Given the description of an element on the screen output the (x, y) to click on. 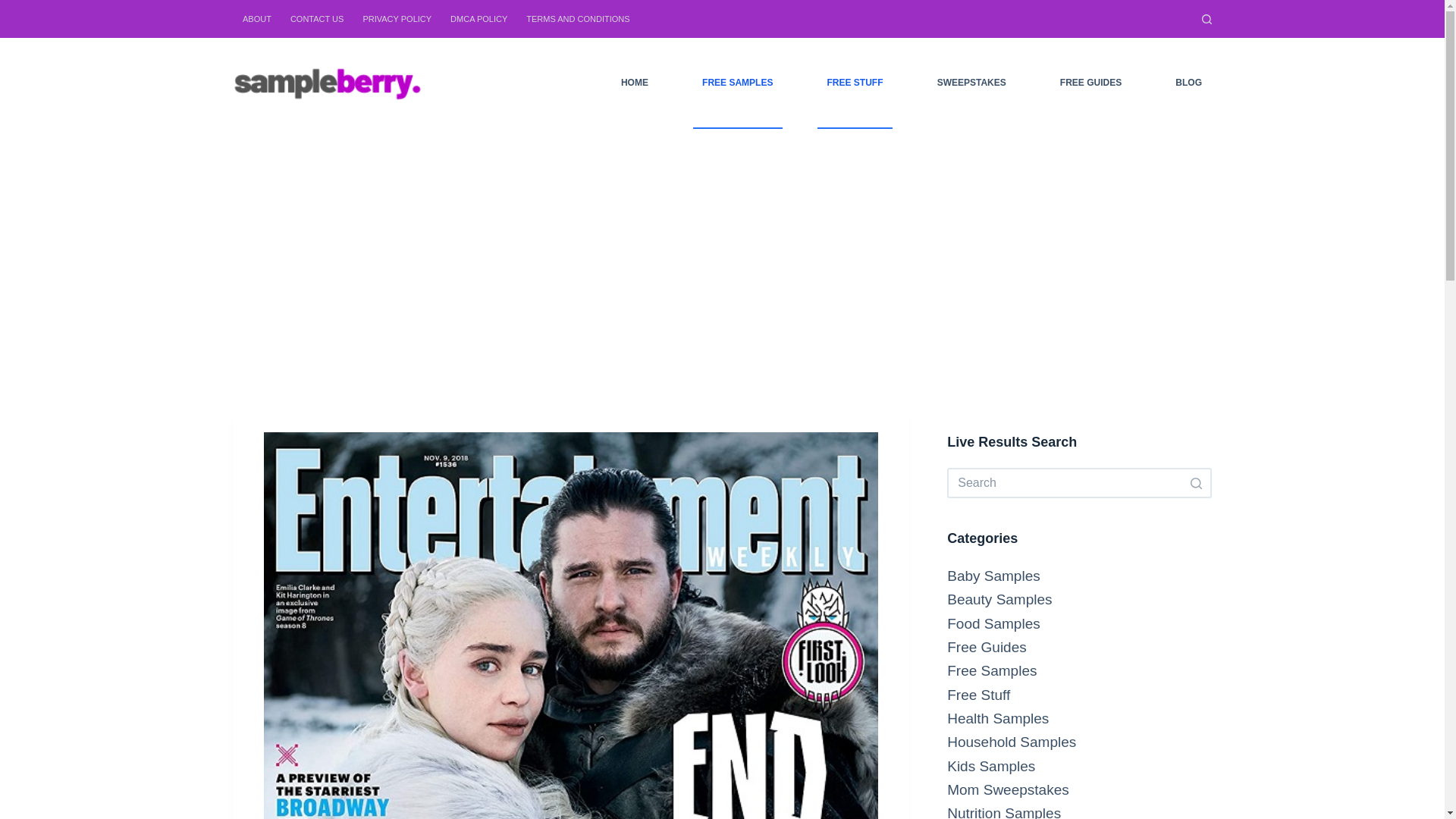
Search for... (1079, 482)
Skip to content (15, 7)
TERMS AND CONDITIONS (577, 18)
ABOUT (256, 18)
CONTACT US (317, 18)
FREE SAMPLES (738, 82)
PRIVACY POLICY (397, 18)
SWEEPSTAKES (970, 82)
DMCA POLICY (478, 18)
